Given the description of an element on the screen output the (x, y) to click on. 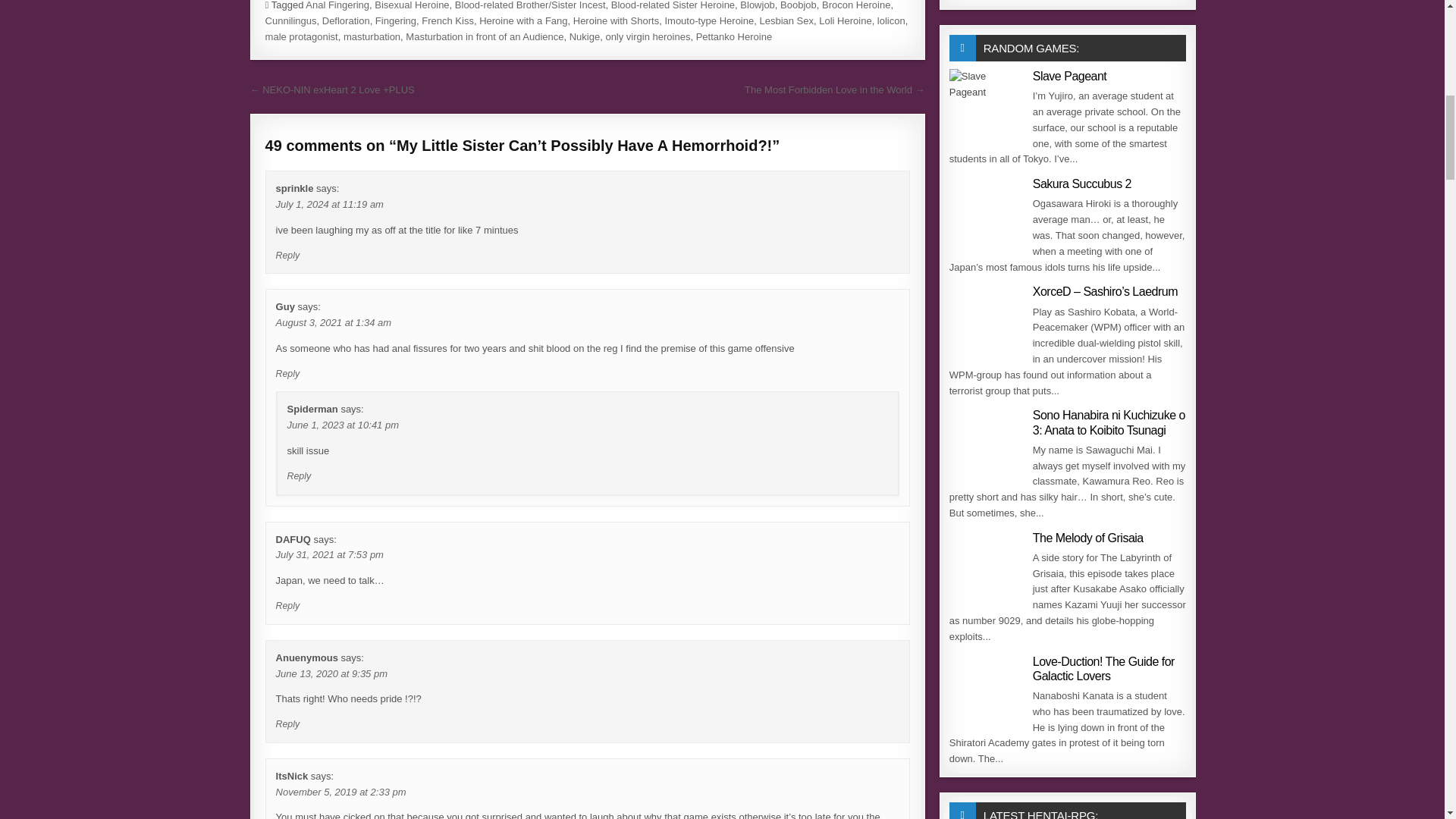
Blood-related Sister Heroine (673, 5)
Cunnilingus (290, 20)
Heroine with a Fang (523, 20)
Fingering (395, 20)
Defloration (345, 20)
French Kiss (448, 20)
Blowjob (756, 5)
Heroine with Shorts (616, 20)
Bisexual Heroine (411, 5)
Boobjob (798, 5)
Anal Fingering (337, 5)
Brocon Heroine (855, 5)
